Given the description of an element on the screen output the (x, y) to click on. 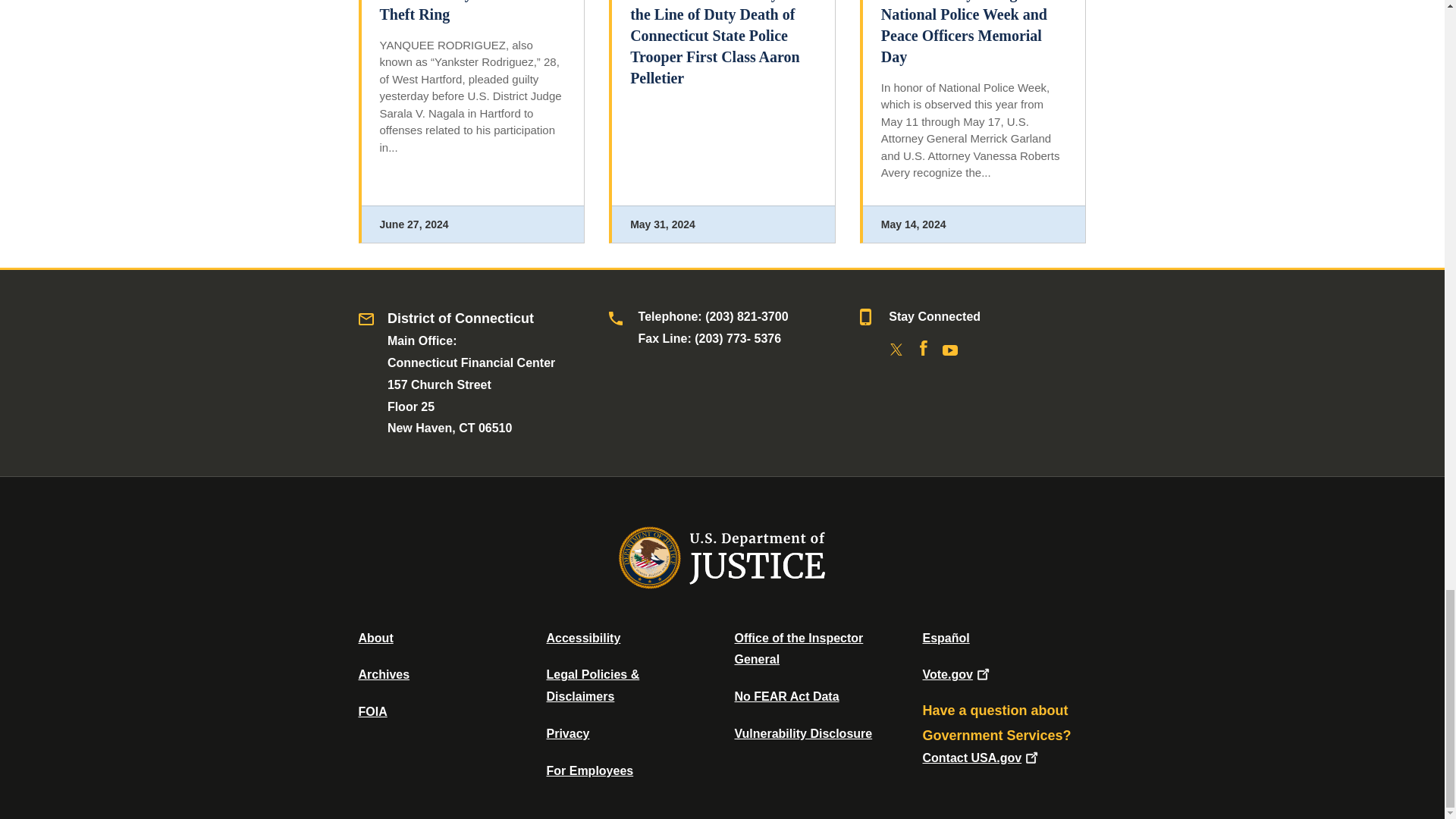
About DOJ (375, 637)
Data Posted Pursuant To The No Fear Act (785, 696)
Department of Justice Archive (383, 674)
Accessibility Statement (583, 637)
For Employees (589, 770)
Legal Policies and Disclaimers (592, 685)
Office of Information Policy (372, 711)
